Given the description of an element on the screen output the (x, y) to click on. 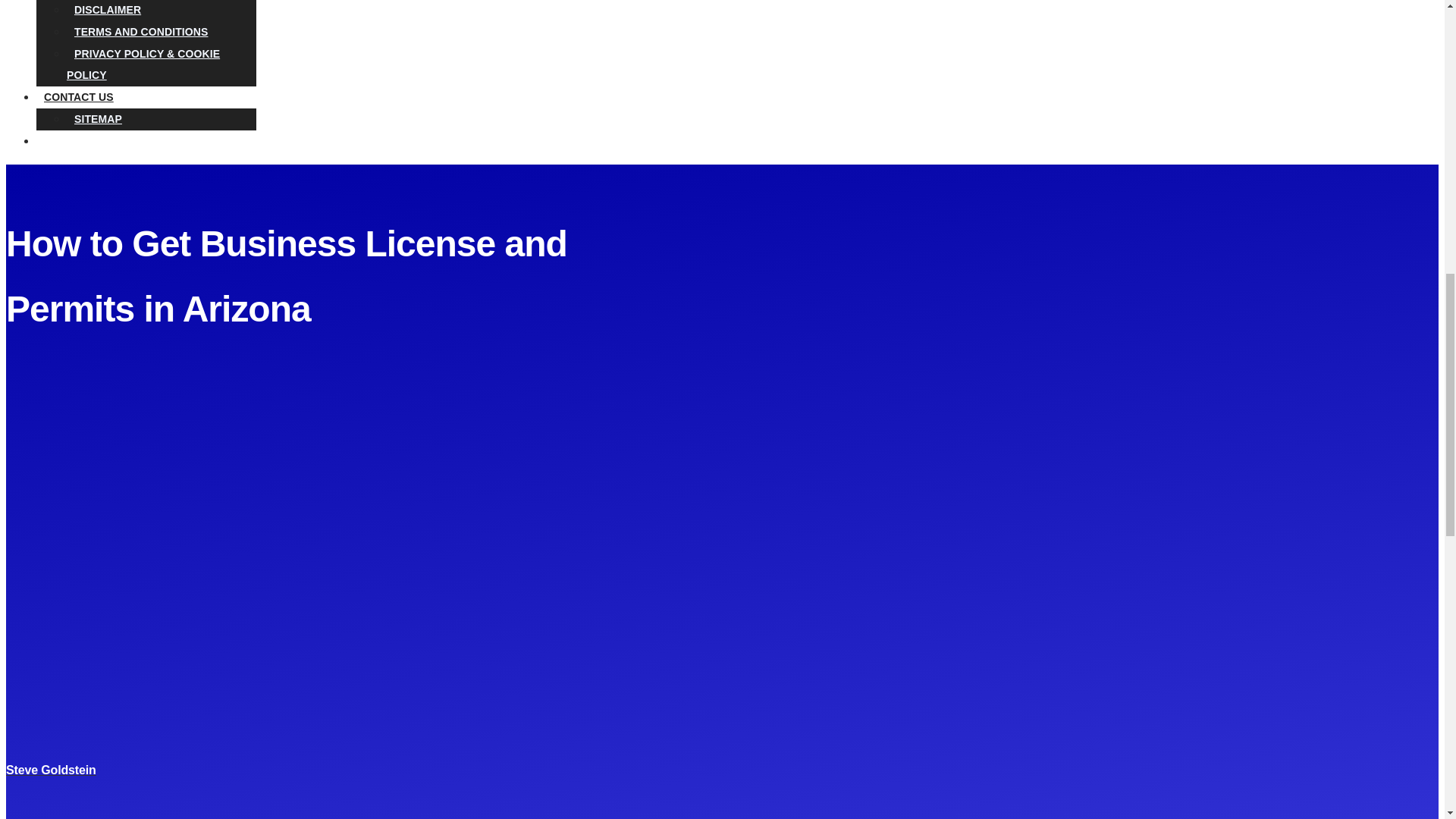
TERMS AND CONDITIONS (140, 31)
DISCLAIMER (107, 11)
View all posts by Steve Goldstein (50, 769)
CONTACT US (82, 96)
